Given the description of an element on the screen output the (x, y) to click on. 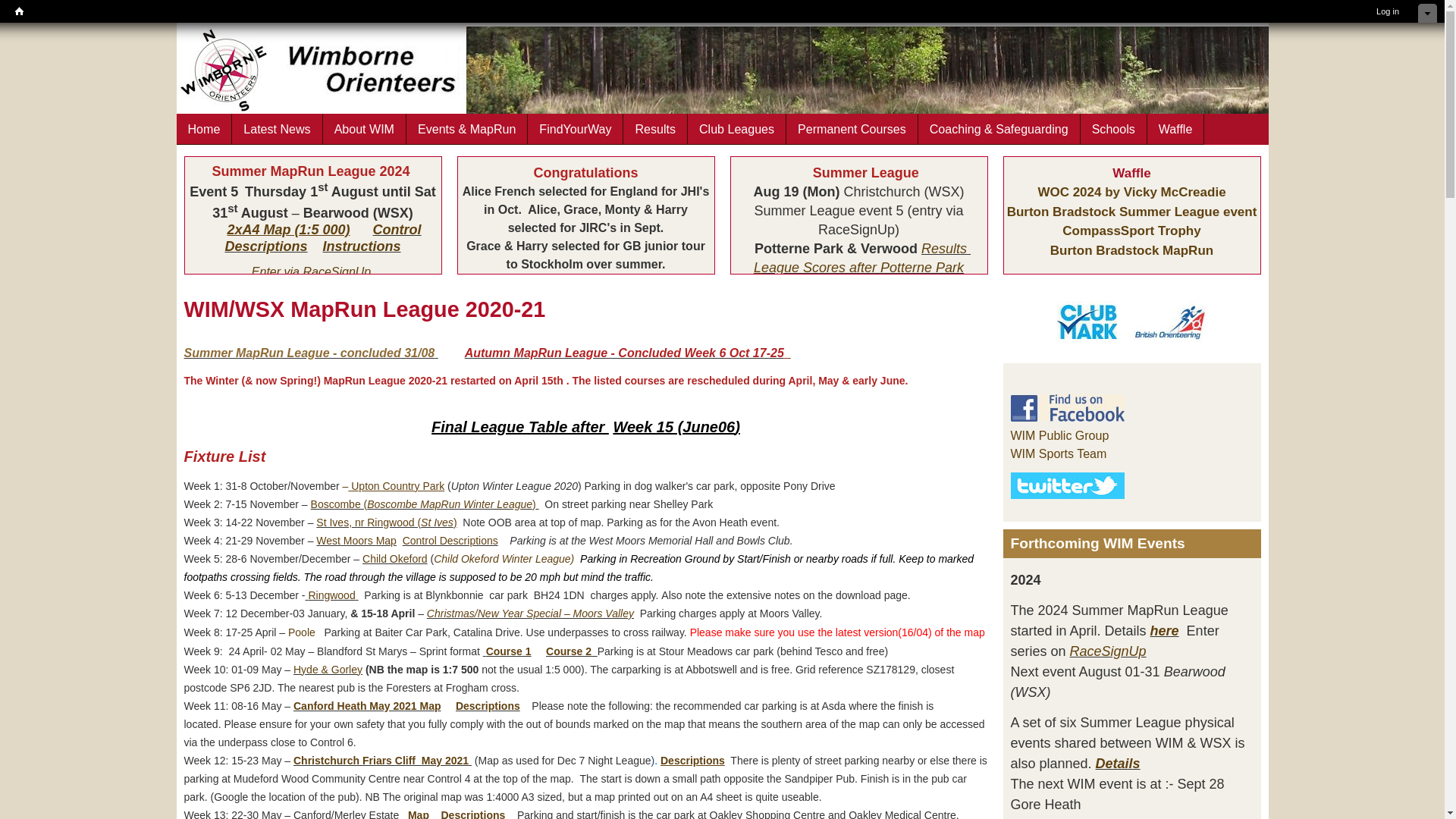
Home (18, 11)
Latest News (276, 128)
Results (655, 128)
Hide shortcuts (1427, 13)
FindYourWay (575, 128)
Home (18, 11)
Hide shortcuts (1427, 13)
About WIM (364, 128)
Home (203, 128)
Log in (1387, 11)
